Given the description of an element on the screen output the (x, y) to click on. 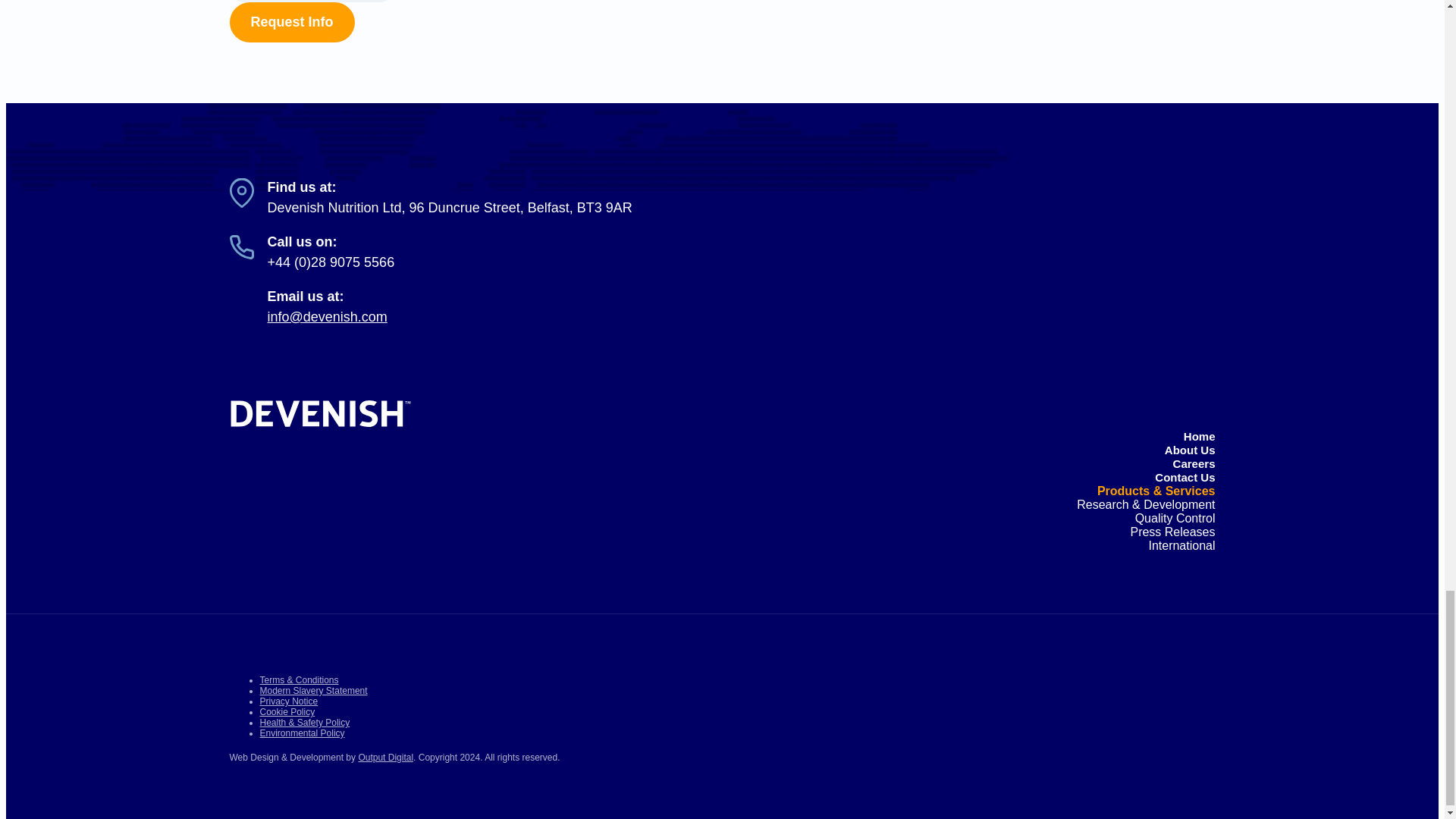
Request Info (290, 22)
